Given the description of an element on the screen output the (x, y) to click on. 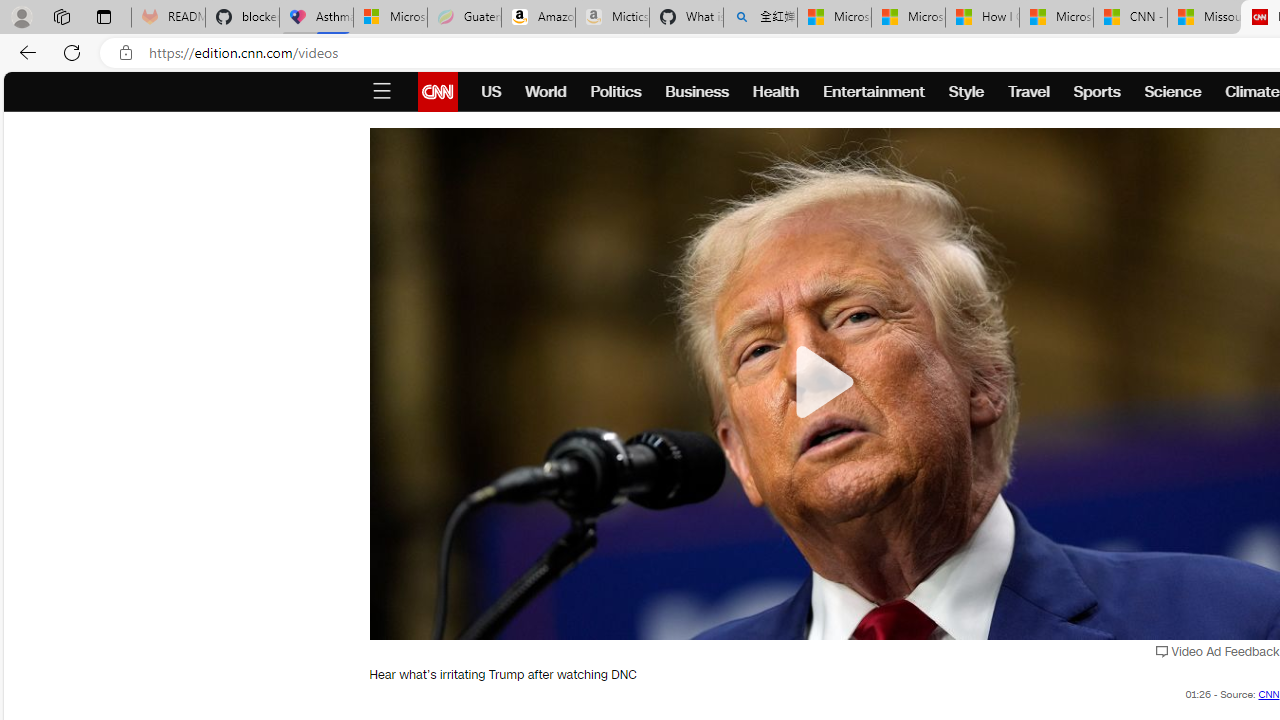
CNN logo (437, 92)
Business (697, 92)
